Given the description of an element on the screen output the (x, y) to click on. 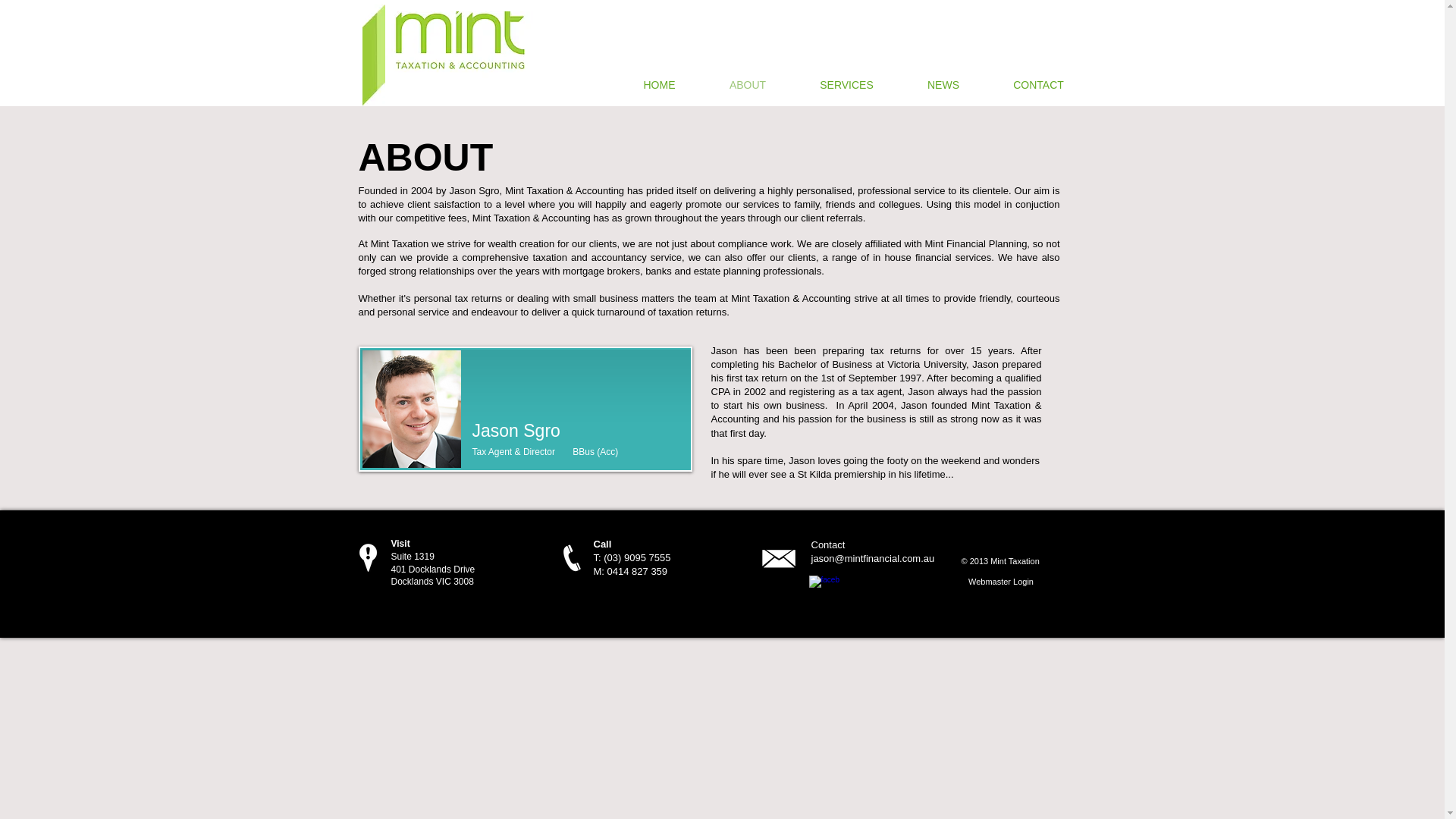
HOME Element type: text (658, 85)
SERVICES Element type: text (846, 85)
ABOUT Element type: text (747, 85)
jason@mintfinancial.com.au Element type: text (873, 558)
CONTACT Element type: text (1037, 85)
NEWS Element type: text (943, 85)
Webmaster Login Element type: text (1000, 581)
